Given the description of an element on the screen output the (x, y) to click on. 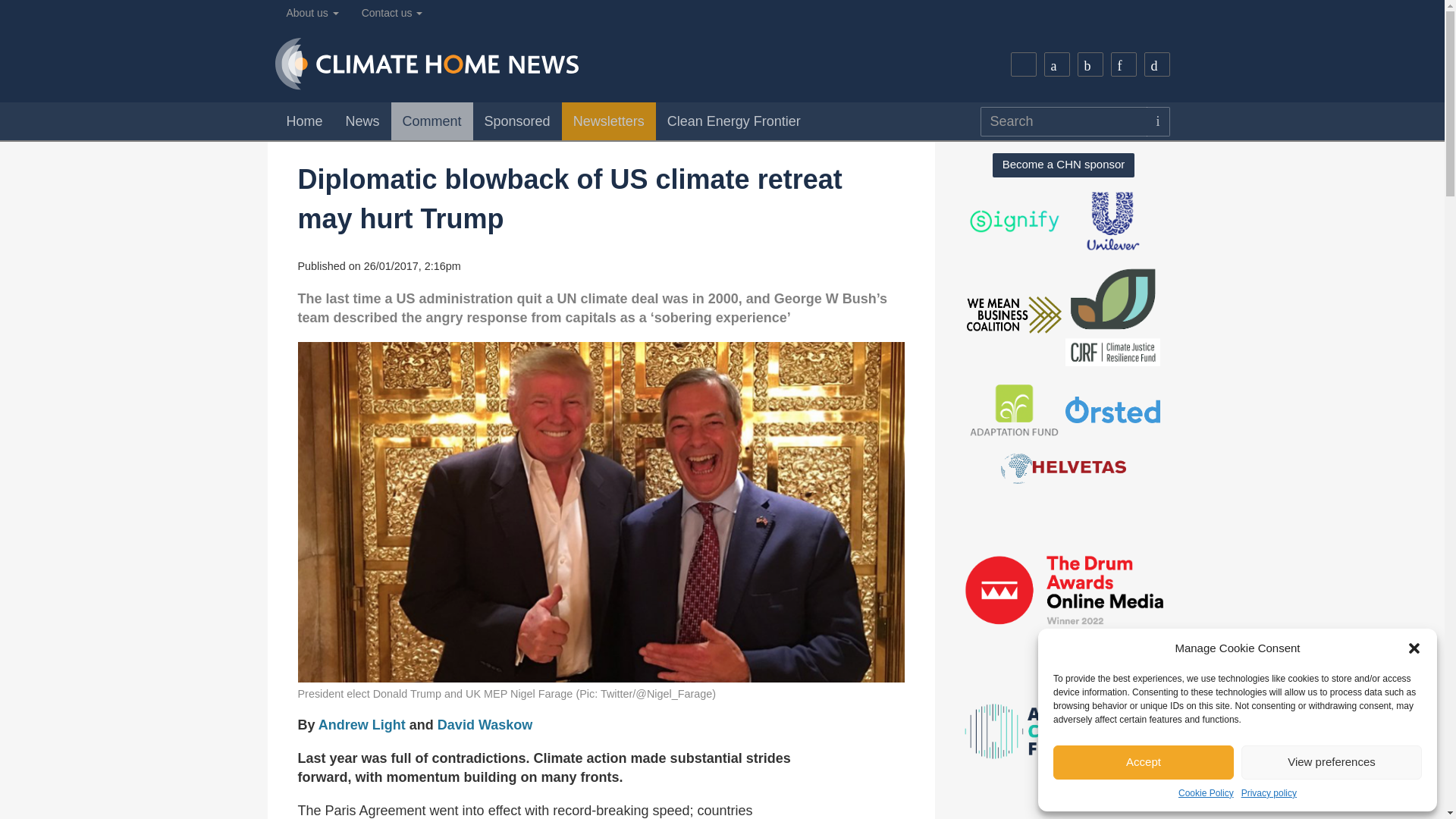
Comment (432, 121)
Accept (1142, 762)
View preferences (1331, 762)
News (362, 121)
Cookie Policy (1205, 793)
Home (304, 121)
Sponsored (517, 121)
Privacy policy (1269, 793)
Contact us (391, 13)
About us (312, 13)
